Given the description of an element on the screen output the (x, y) to click on. 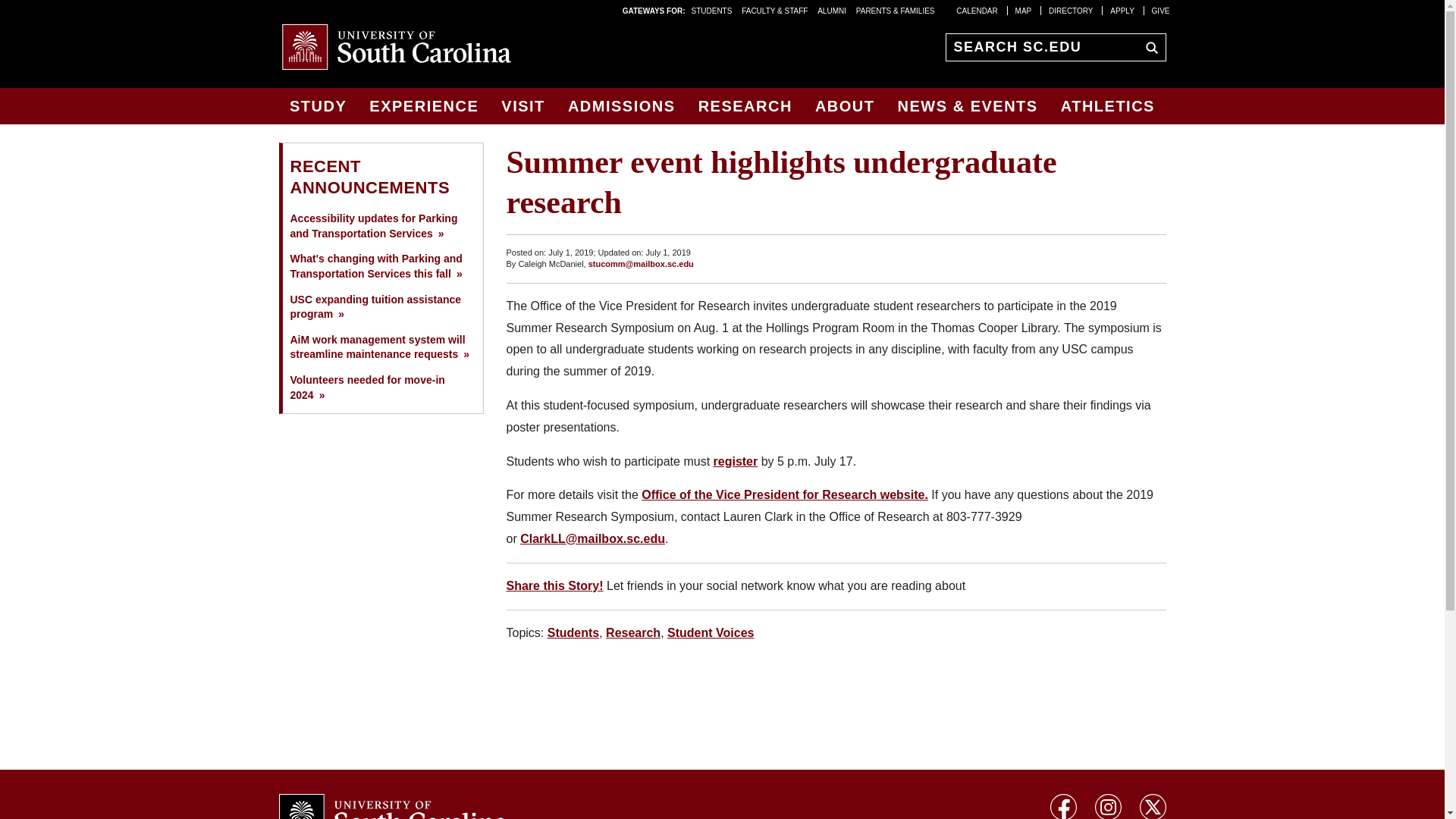
GO (1148, 46)
STUDY (318, 105)
GO (1148, 46)
VISIT (523, 105)
GIVE (1160, 9)
sc.edu Search (1148, 46)
ALUMNI (830, 9)
STUDENTS (713, 9)
EXPERIENCE (423, 105)
DIRECTORY (1070, 9)
